Given the description of an element on the screen output the (x, y) to click on. 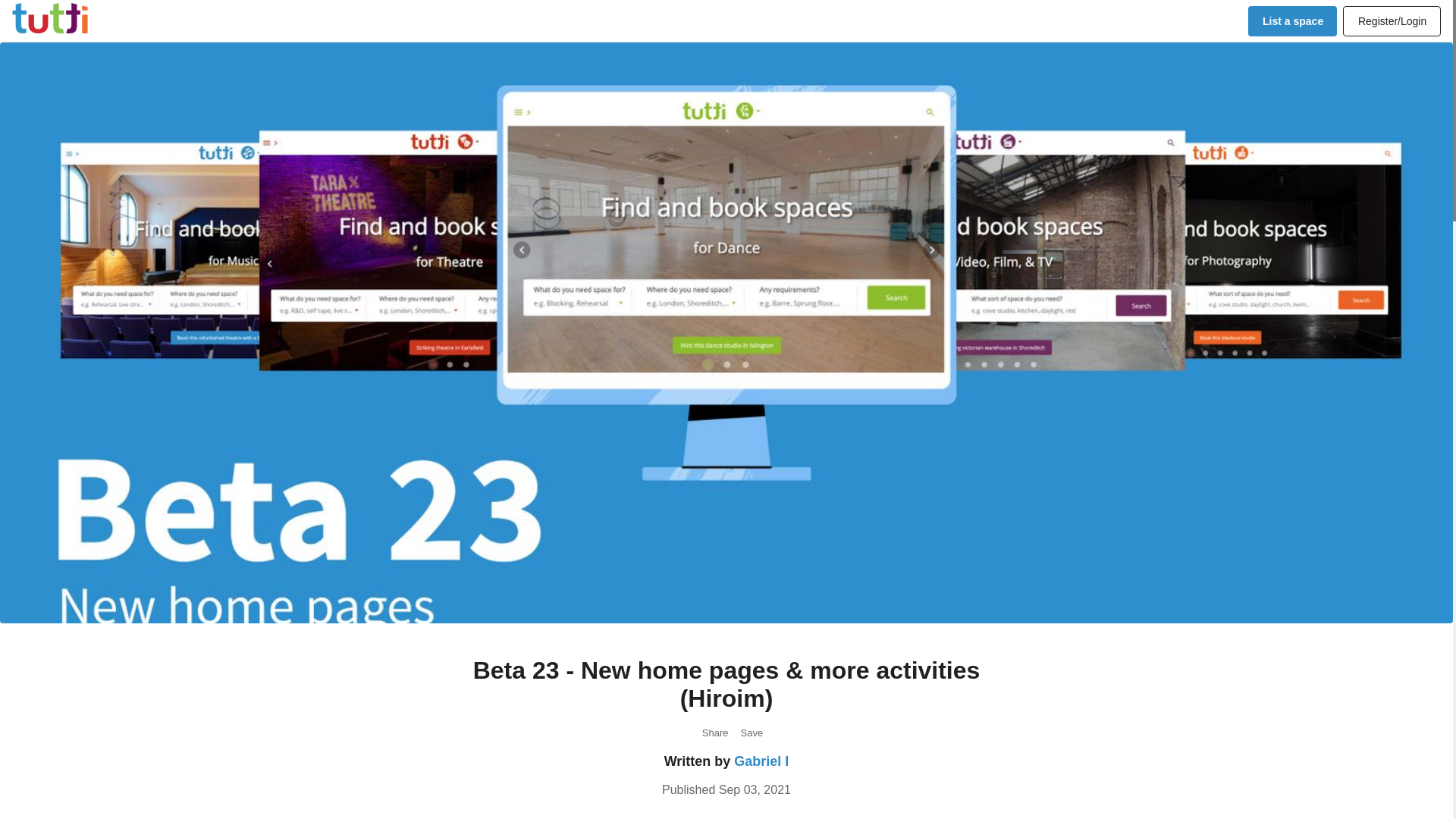
Gabriel I (761, 761)
List a space (1291, 20)
